Given the description of an element on the screen output the (x, y) to click on. 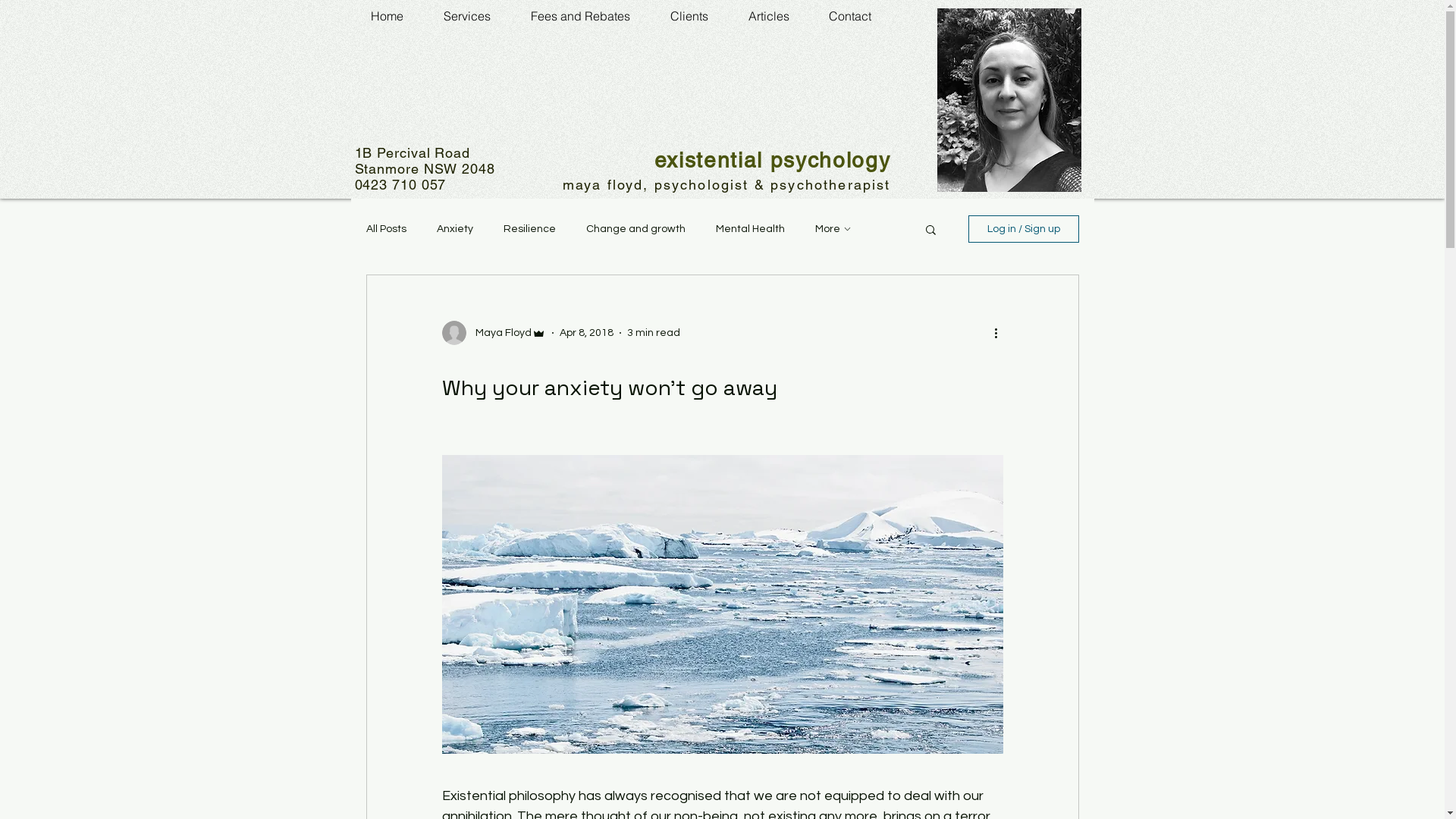
Articles Element type: text (768, 16)
Change and growth Element type: text (634, 228)
Services Element type: text (466, 16)
All Posts Element type: text (385, 228)
Contact Element type: text (849, 16)
Log in / Sign up Element type: text (1022, 228)
Mental Health Element type: text (749, 228)
Anxiety Element type: text (454, 228)
Resilience Element type: text (529, 228)
slikahomepage.jpg Element type: hover (1009, 99)
Home Element type: text (386, 16)
Clients Element type: text (689, 16)
existential psychology Element type: text (772, 159)
Fees and Rebates Element type: text (580, 16)
